Given the description of an element on the screen output the (x, y) to click on. 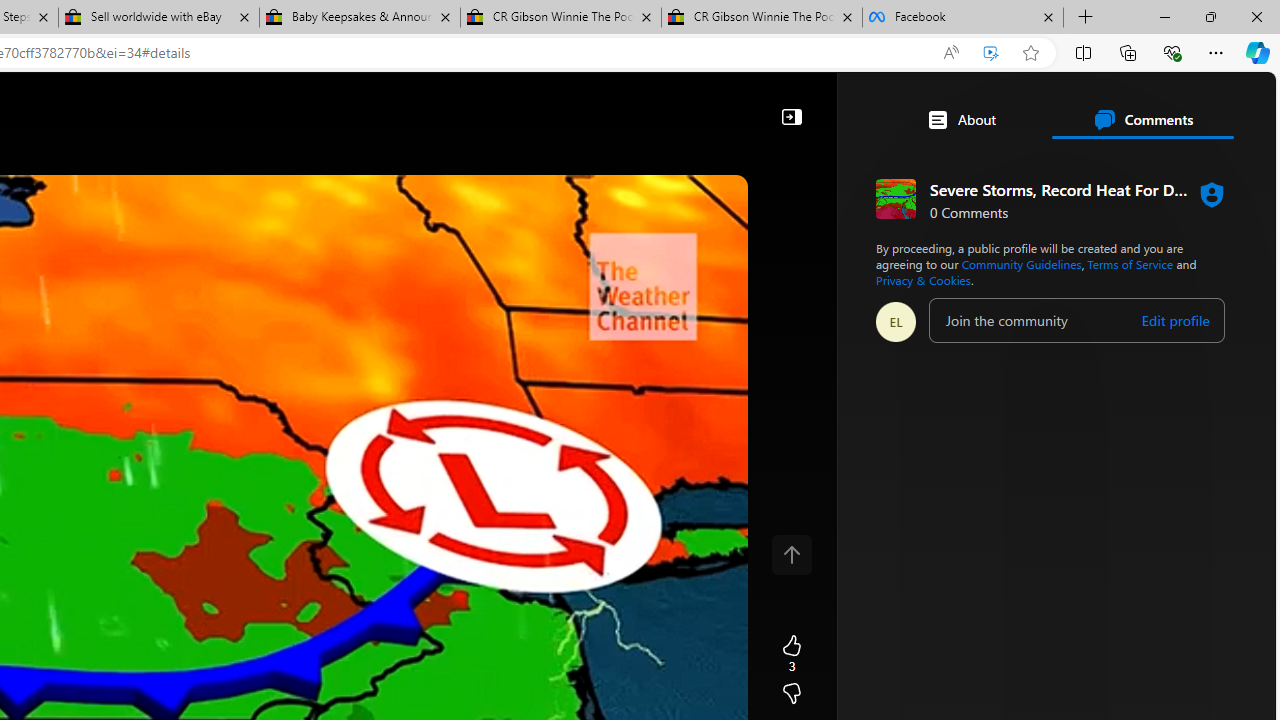
Forge of Empires (828, 439)
Personalize (711, 162)
Sell worldwide with eBay (158, 17)
Community Guidelines (1021, 264)
About (961, 119)
Open settings (1231, 105)
Collapse (791, 115)
Open Copilot (355, 105)
Dislike (791, 693)
Ad (766, 439)
